Given the description of an element on the screen output the (x, y) to click on. 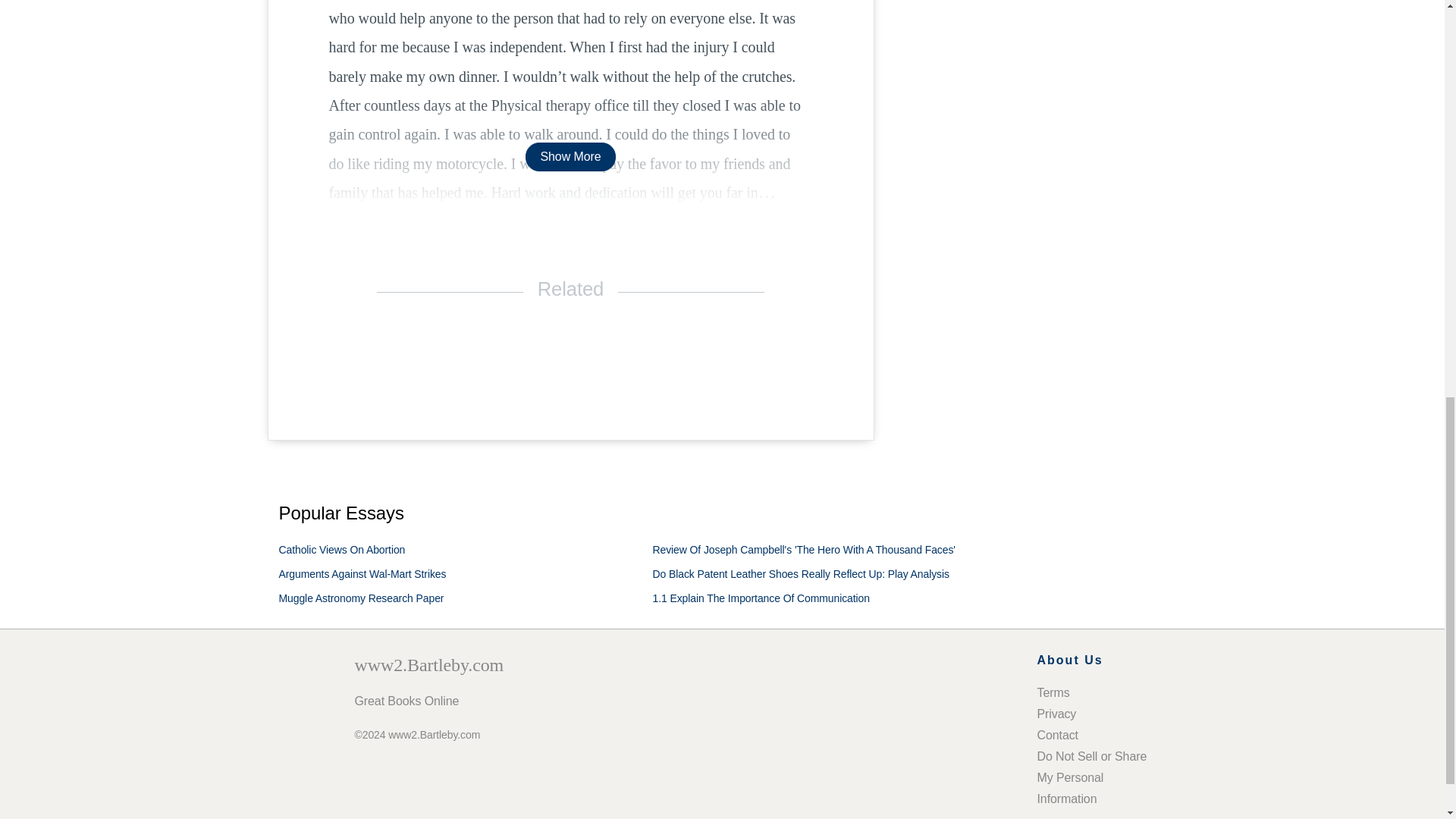
Privacy (1056, 713)
Terms (1053, 692)
1.1 Explain The Importance Of Communication (760, 598)
Muggle Astronomy Research Paper (361, 598)
Muggle Astronomy Research Paper (361, 598)
1.1 Explain The Importance Of Communication (760, 598)
Catholic Views On Abortion (342, 549)
Review Of Joseph Campbell's 'The Hero With A Thousand Faces' (803, 549)
Arguments Against Wal-Mart Strikes (362, 573)
Arguments Against Wal-Mart Strikes (362, 573)
Show More (569, 156)
Contact (1057, 735)
Catholic Views On Abortion (342, 549)
